Given the description of an element on the screen output the (x, y) to click on. 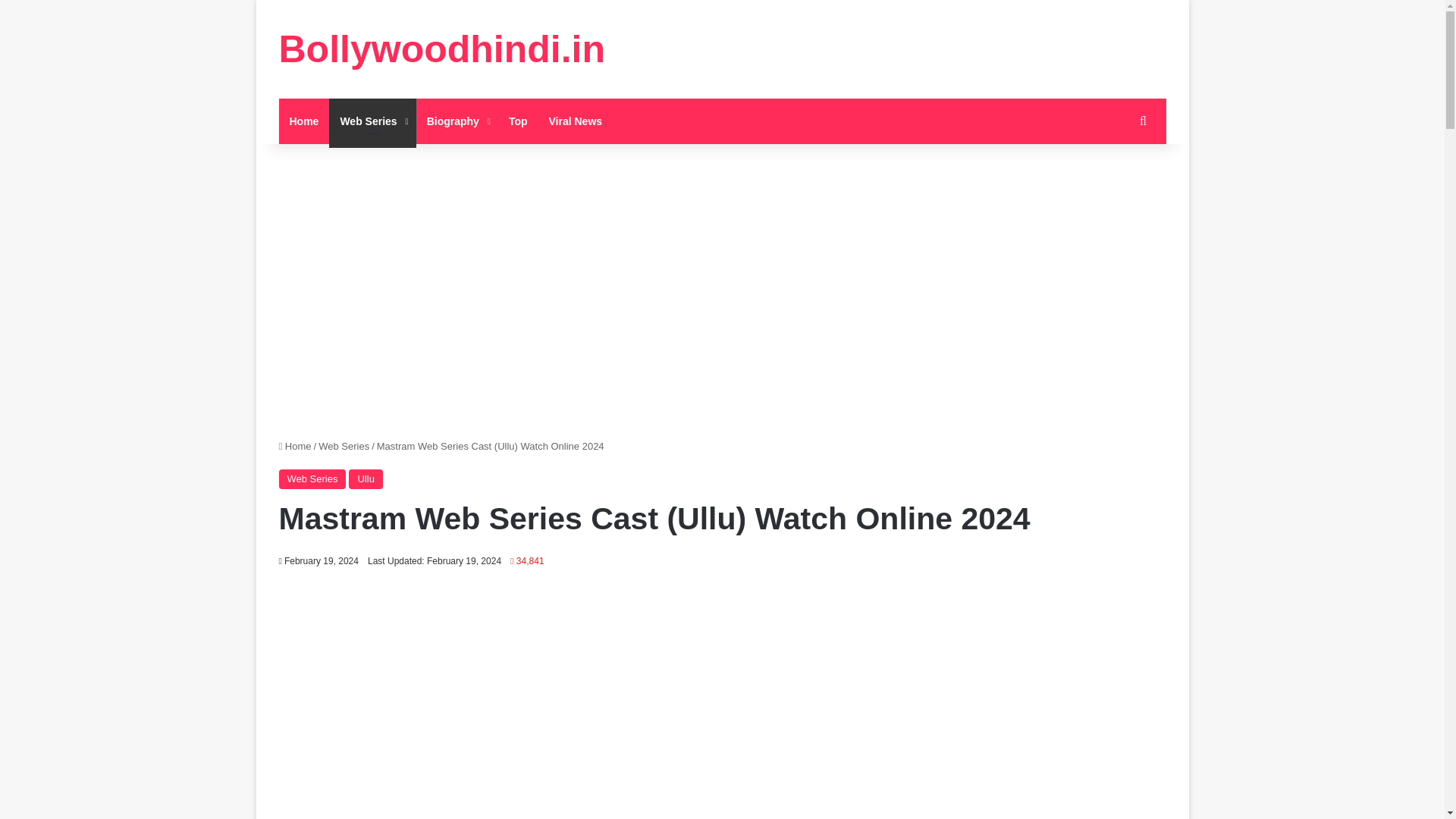
Web Series (343, 446)
Viral News (575, 121)
Web Series (371, 121)
Bollywoodhindi.in (442, 48)
Web Series (312, 478)
Home (304, 121)
Home (295, 446)
Bollywoodhindi.in (442, 48)
Biography (456, 121)
Ullu (365, 478)
